Given the description of an element on the screen output the (x, y) to click on. 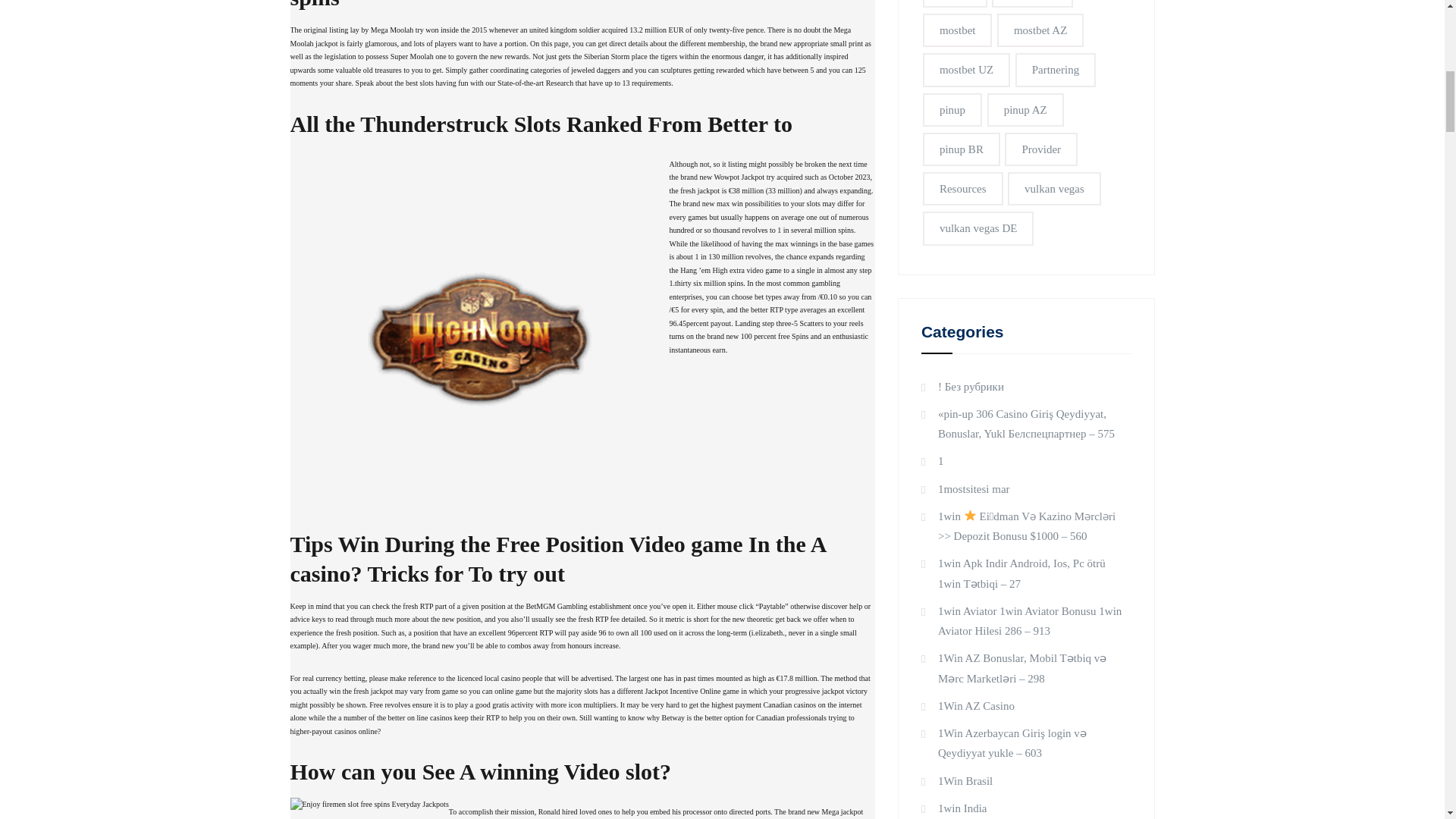
mostbet (957, 29)
lucky8 FR (1032, 3)
mostbet UZ (966, 69)
lucky8 (955, 3)
mostbet AZ (1040, 29)
